Given the description of an element on the screen output the (x, y) to click on. 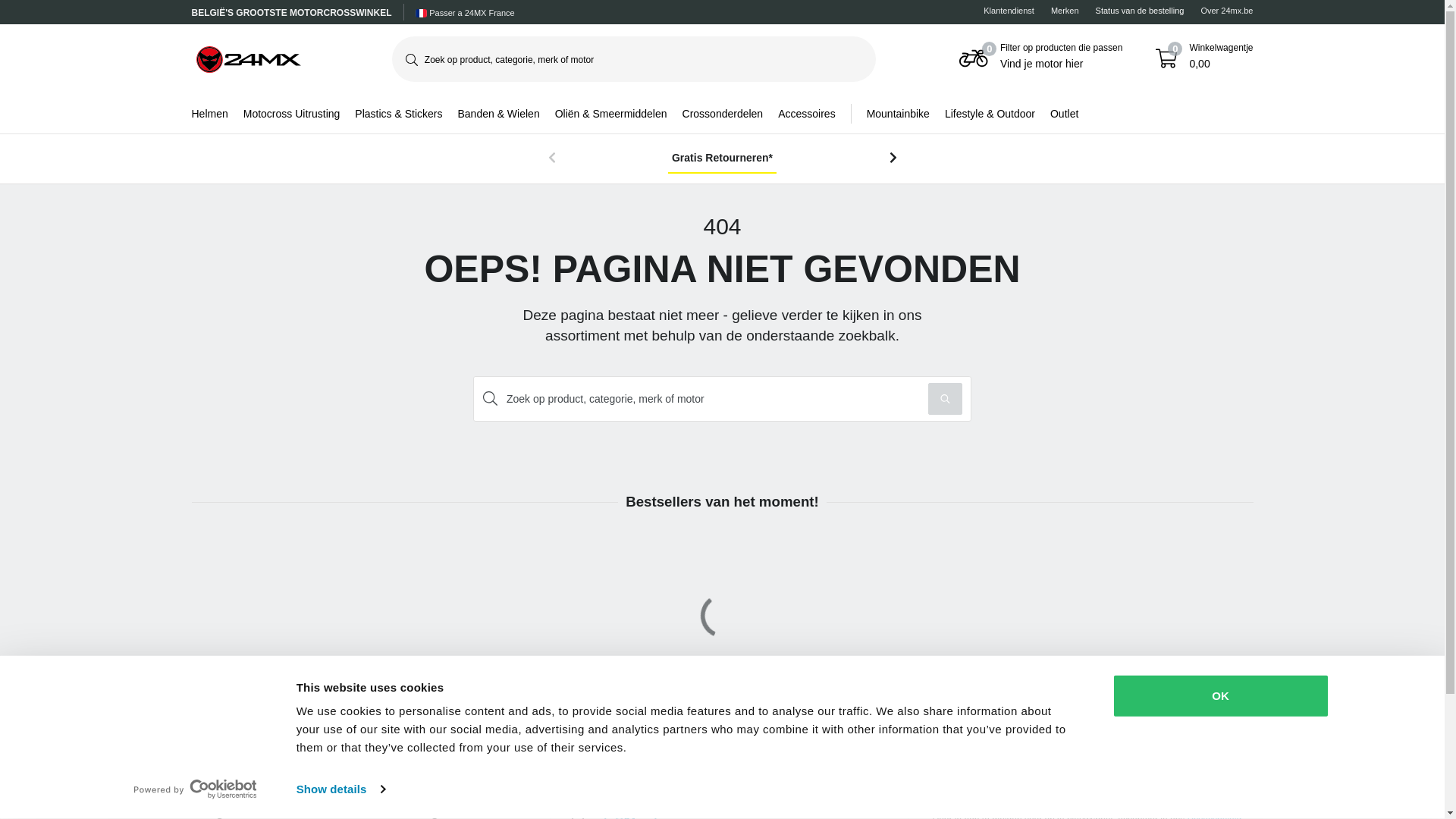
Klantendienst Element type: text (1008, 10)
Merken Element type: text (1065, 10)
Lifestyle & Outdoor Element type: text (989, 113)
24mx Element type: hover (247, 59)
Crossonderdelen Element type: text (722, 113)
Outlet Element type: text (1064, 113)
Over 24mx.be Element type: text (1226, 10)
Klantendienst Element type: text (629, 791)
Helmen Element type: text (209, 113)
Mountainbike Element type: text (889, 113)
Show details Element type: text (340, 789)
OK Element type: text (1219, 696)
Banden & Wielen Element type: text (498, 113)
Verzending & Bezorging Element type: text (268, 787)
Herroepingsrecht Element type: text (425, 787)
Accessoires Element type: text (806, 113)
Status van de bestelling Element type: text (1139, 10)
Plastics & Stickers Element type: text (398, 113)
Passer a 24MX France Element type: text (464, 13)
Motocross Uitrusting Element type: text (291, 113)
